Given the description of an element on the screen output the (x, y) to click on. 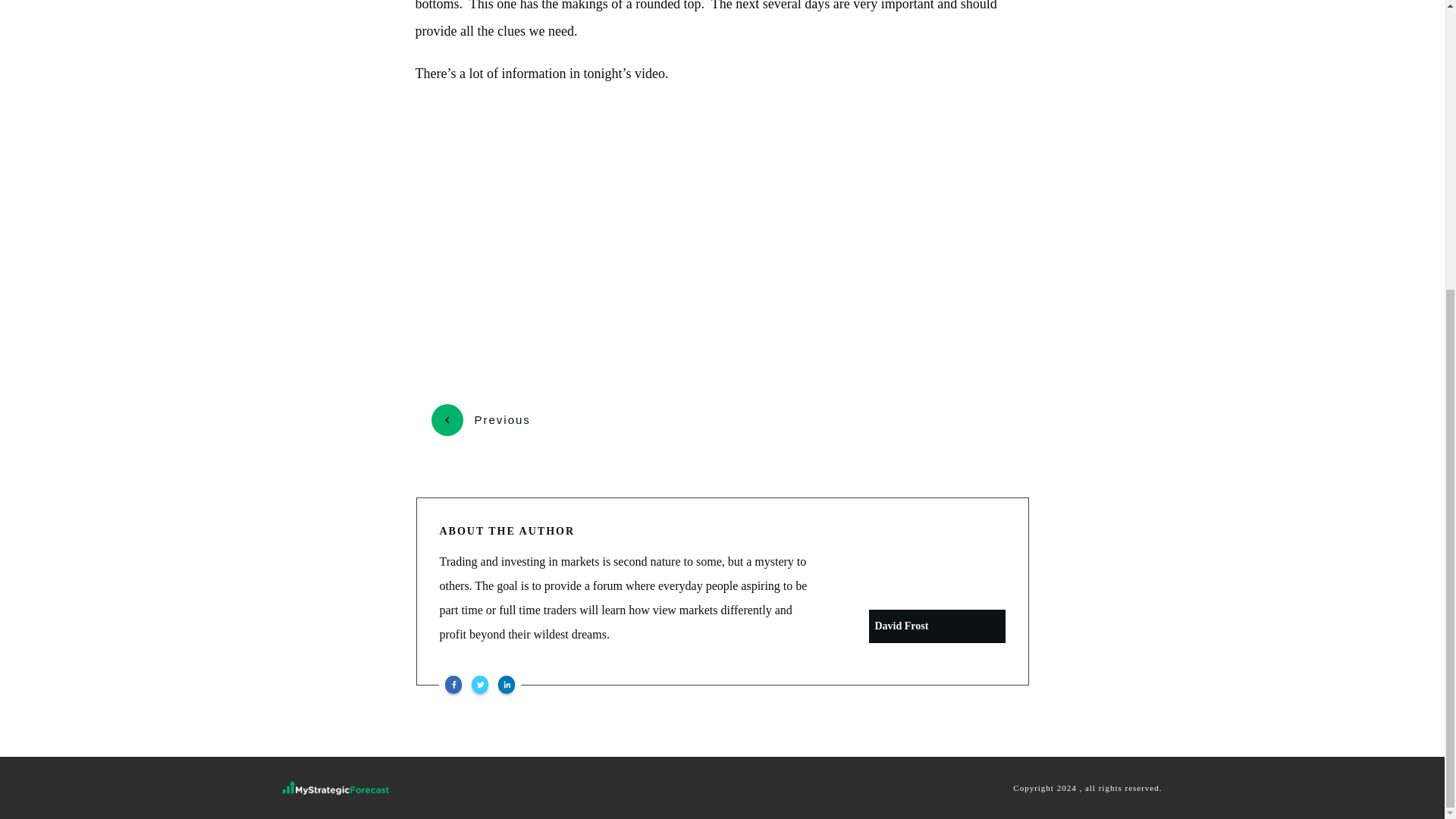
Previous (479, 419)
